Given the description of an element on the screen output the (x, y) to click on. 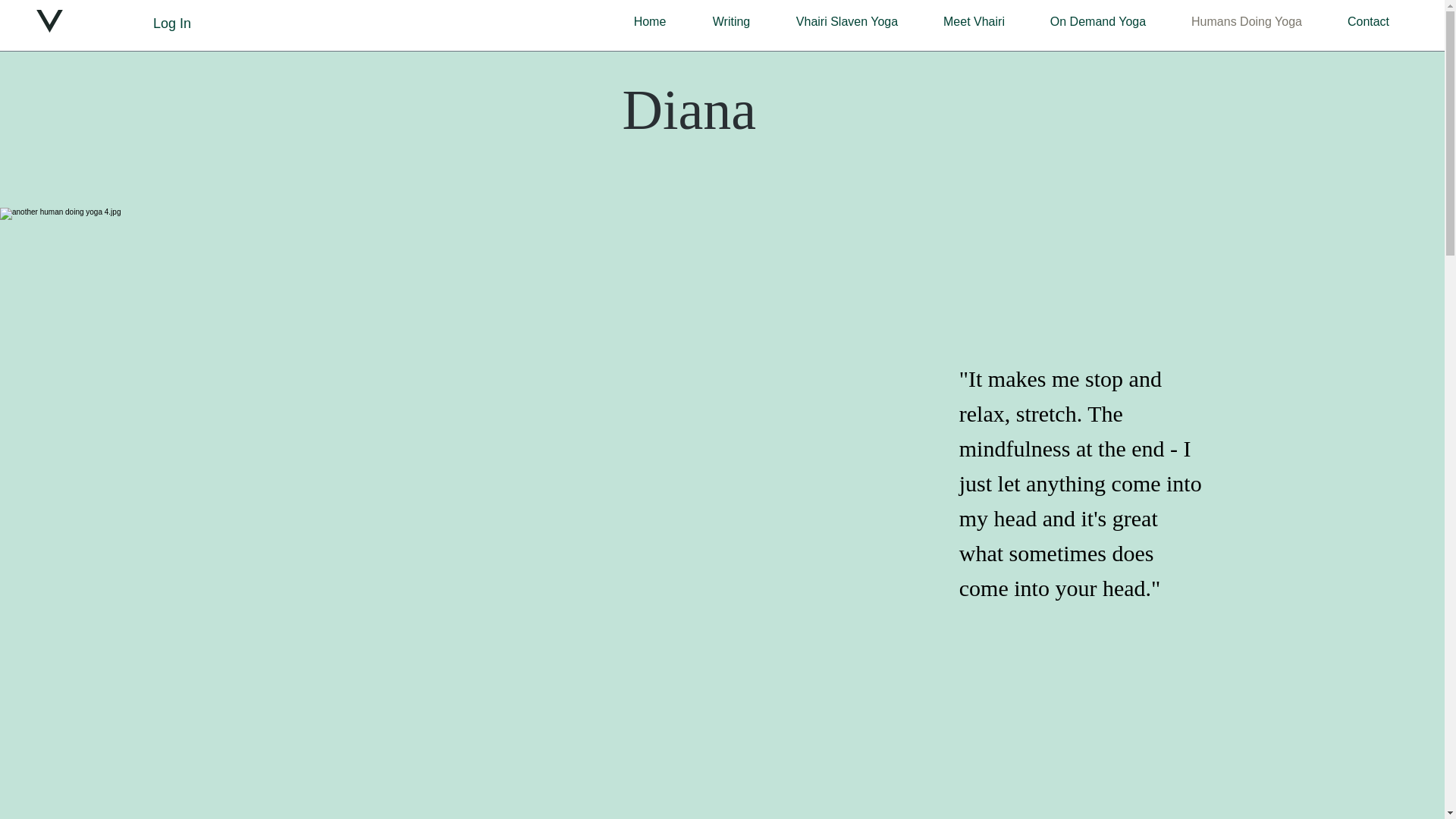
Humans Doing Yoga (1246, 22)
Vhairi Slaven Yoga (846, 22)
Meet Vhairi (973, 22)
On Demand Yoga (1098, 22)
Contact (1368, 22)
Home (649, 22)
Log In (172, 23)
Writing (730, 22)
